Given the description of an element on the screen output the (x, y) to click on. 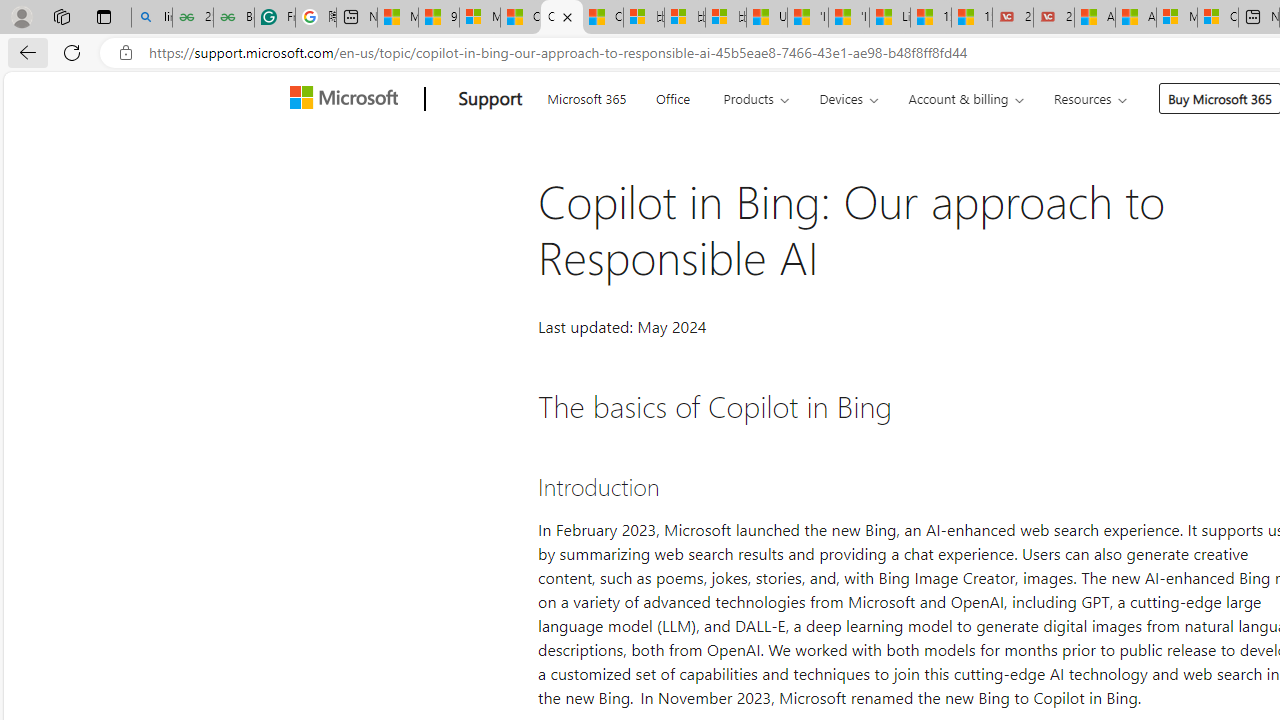
linux basic - Search (151, 17)
15 Ways Modern Life Contradicts the Teachings of Jesus (971, 17)
25 Basic Linux Commands For Beginners - GeeksforGeeks (192, 17)
Cloud Computing Services | Microsoft Azure (1217, 17)
Lifestyle - MSN (890, 17)
USA TODAY - MSN (767, 17)
